Given the description of an element on the screen output the (x, y) to click on. 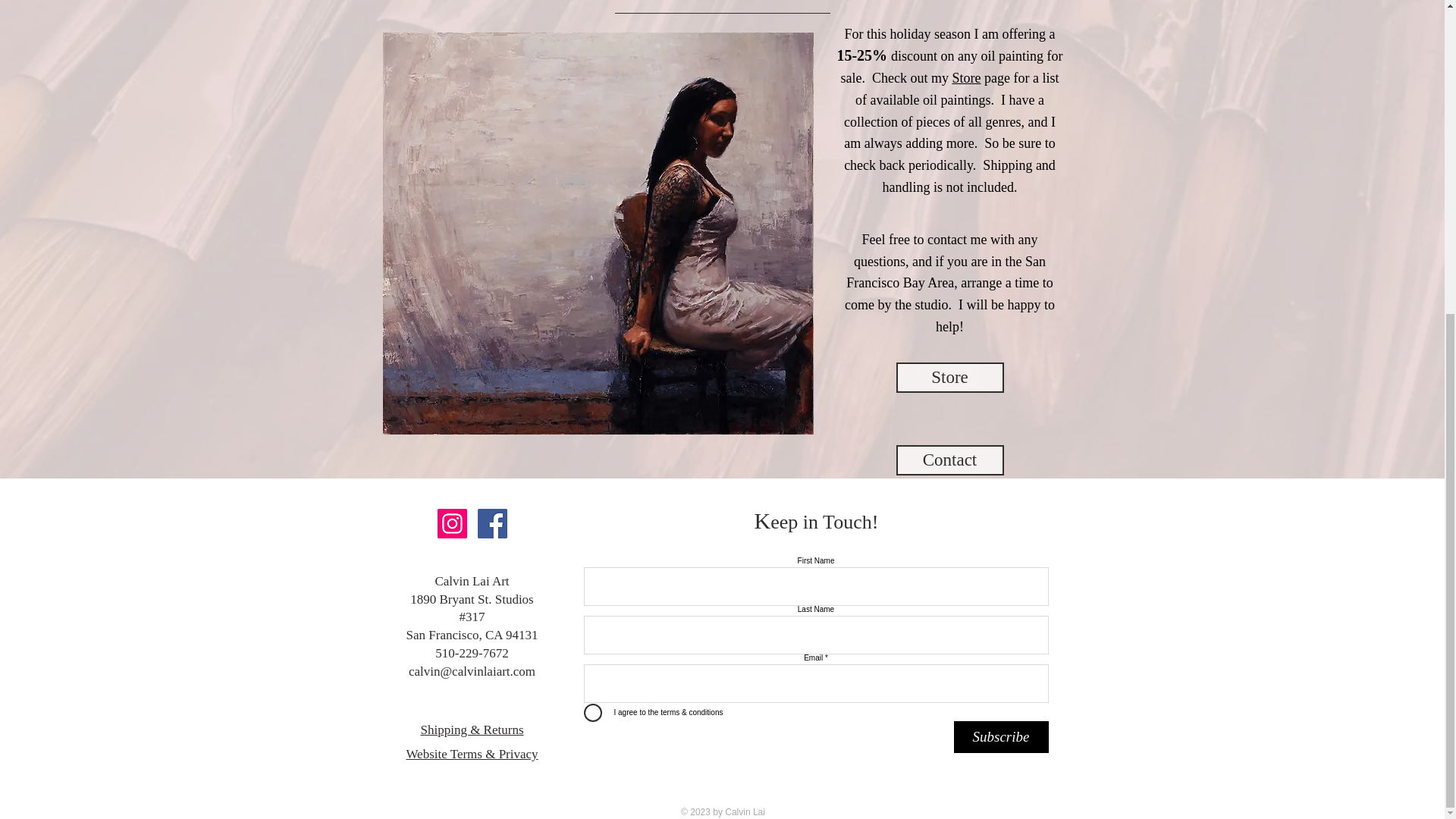
Store (966, 77)
Subscribe (1000, 736)
Contact (950, 460)
Store (950, 377)
